Given the description of an element on the screen output the (x, y) to click on. 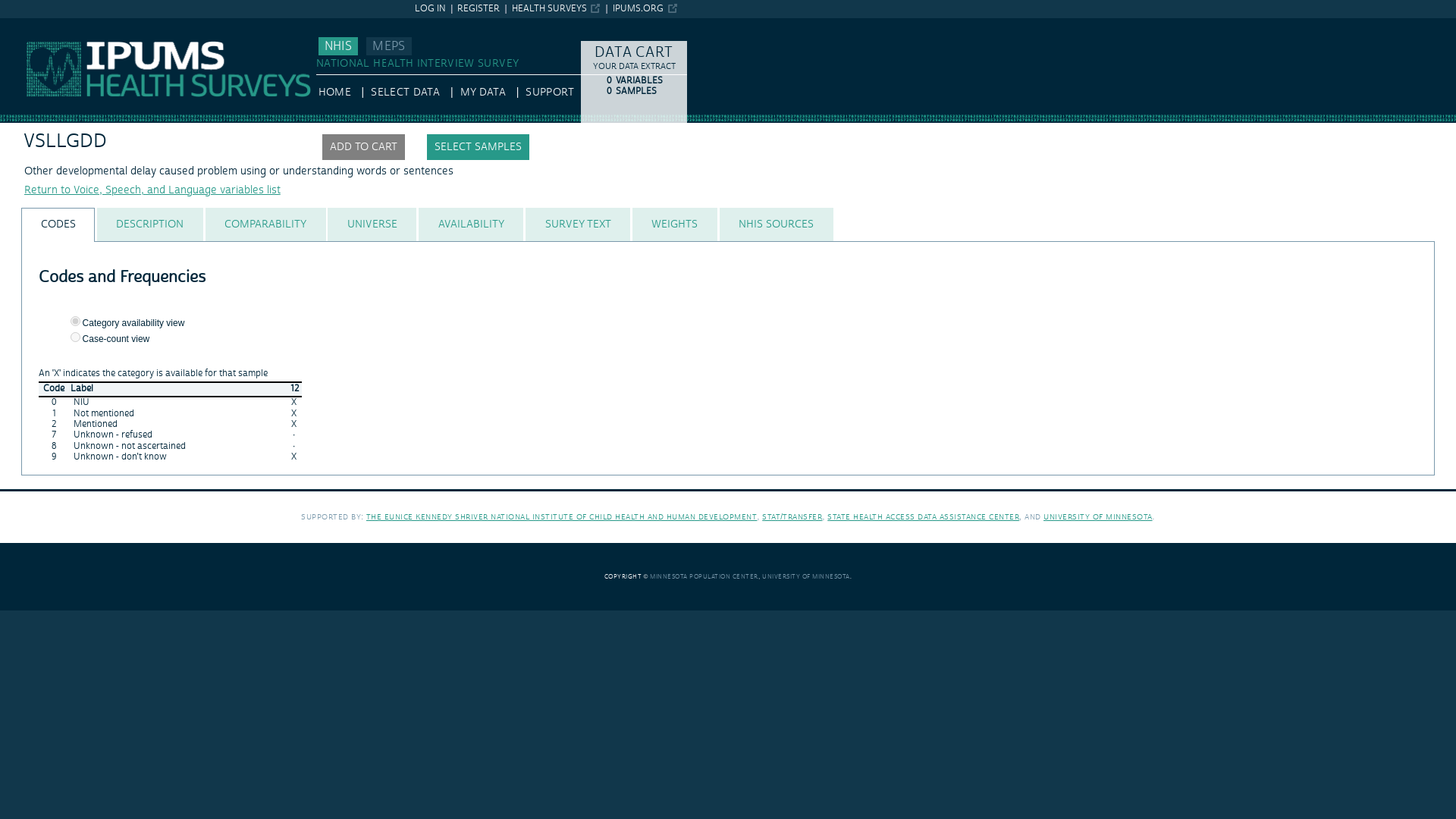
Return to Voice, Speech, and Language variables list (152, 190)
COMPARABILITY (265, 224)
LOG IN (429, 8)
MINNESOTA POPULATION CENTER (703, 576)
DESCRIPTION (149, 224)
WEIGHTS (674, 224)
NHIS SOURCES (776, 224)
2012 NHIS (293, 389)
MEPS (388, 45)
category (74, 320)
SELECT DATA (405, 92)
case (74, 337)
REGISTER (478, 8)
UNIVERSITY OF MINNESOTA (805, 576)
